Given the description of an element on the screen output the (x, y) to click on. 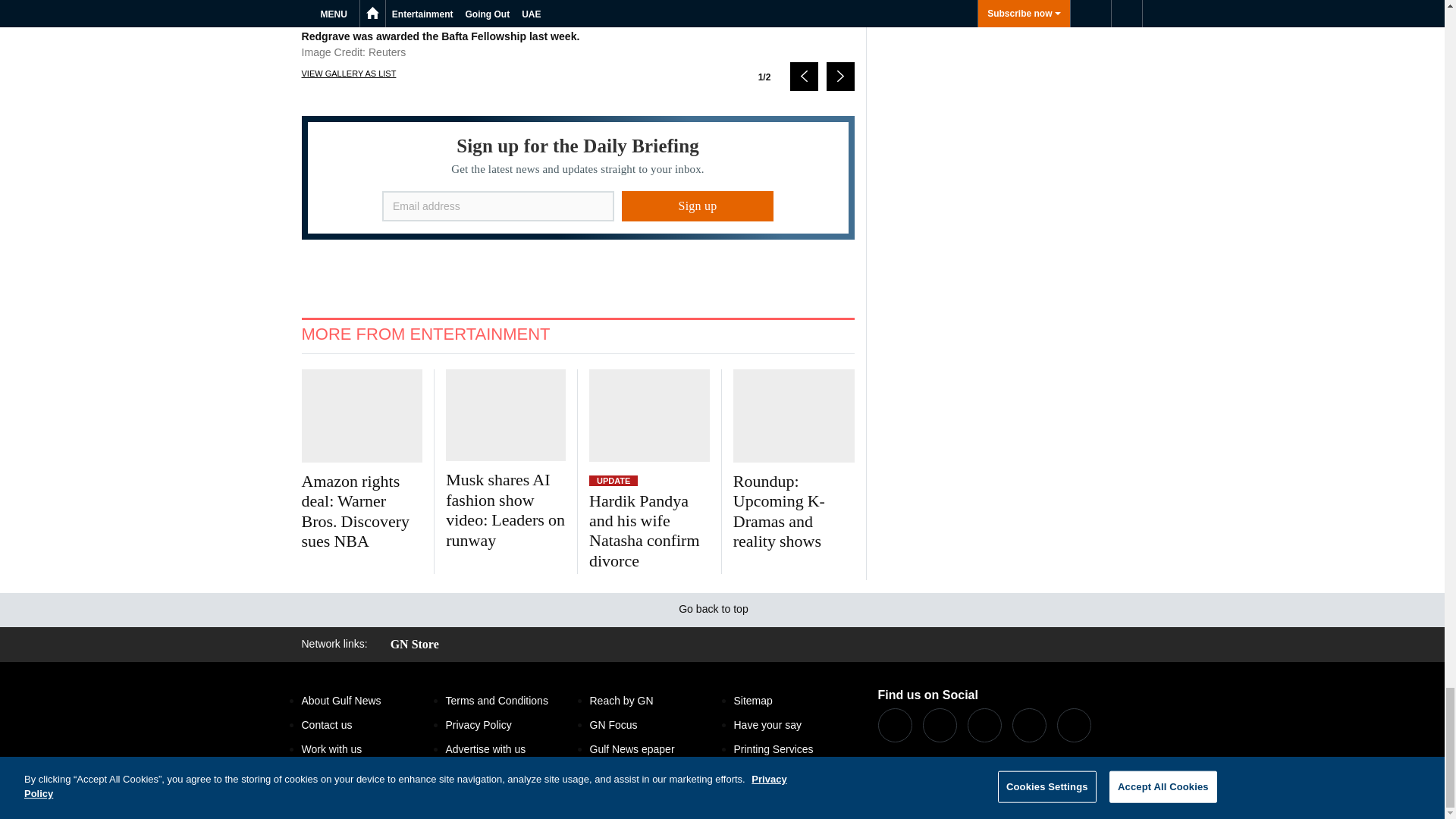
Sign up for the Daily Briefing (577, 177)
